Given the description of an element on the screen output the (x, y) to click on. 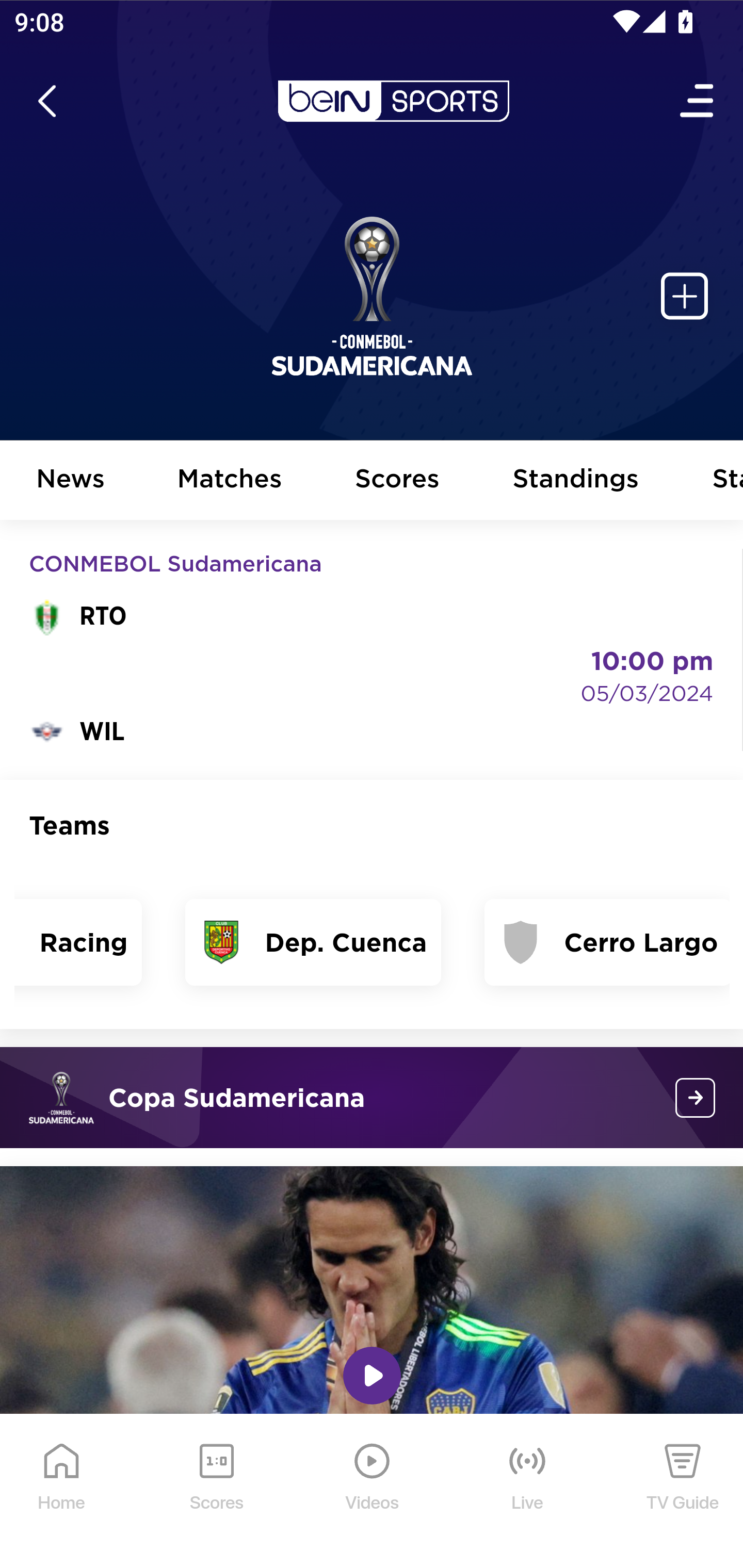
en-us?platform=mobile_android bein logo white (392, 101)
icon back (46, 101)
Open Menu Icon (697, 101)
News (70, 480)
Matches (229, 480)
Scores (397, 480)
Standings (575, 480)
Racing (78, 942)
Dep. Cuenca Dep. Cuenca Dep. Cuenca (313, 942)
Cerro Largo (607, 942)
conmebol-sudamericana?platform=mobile_android (695, 1097)
Home Home Icon Home (61, 1491)
Scores Scores Icon Scores (216, 1491)
Videos Videos Icon Videos (372, 1491)
TV Guide TV Guide Icon TV Guide (682, 1491)
